Given the description of an element on the screen output the (x, y) to click on. 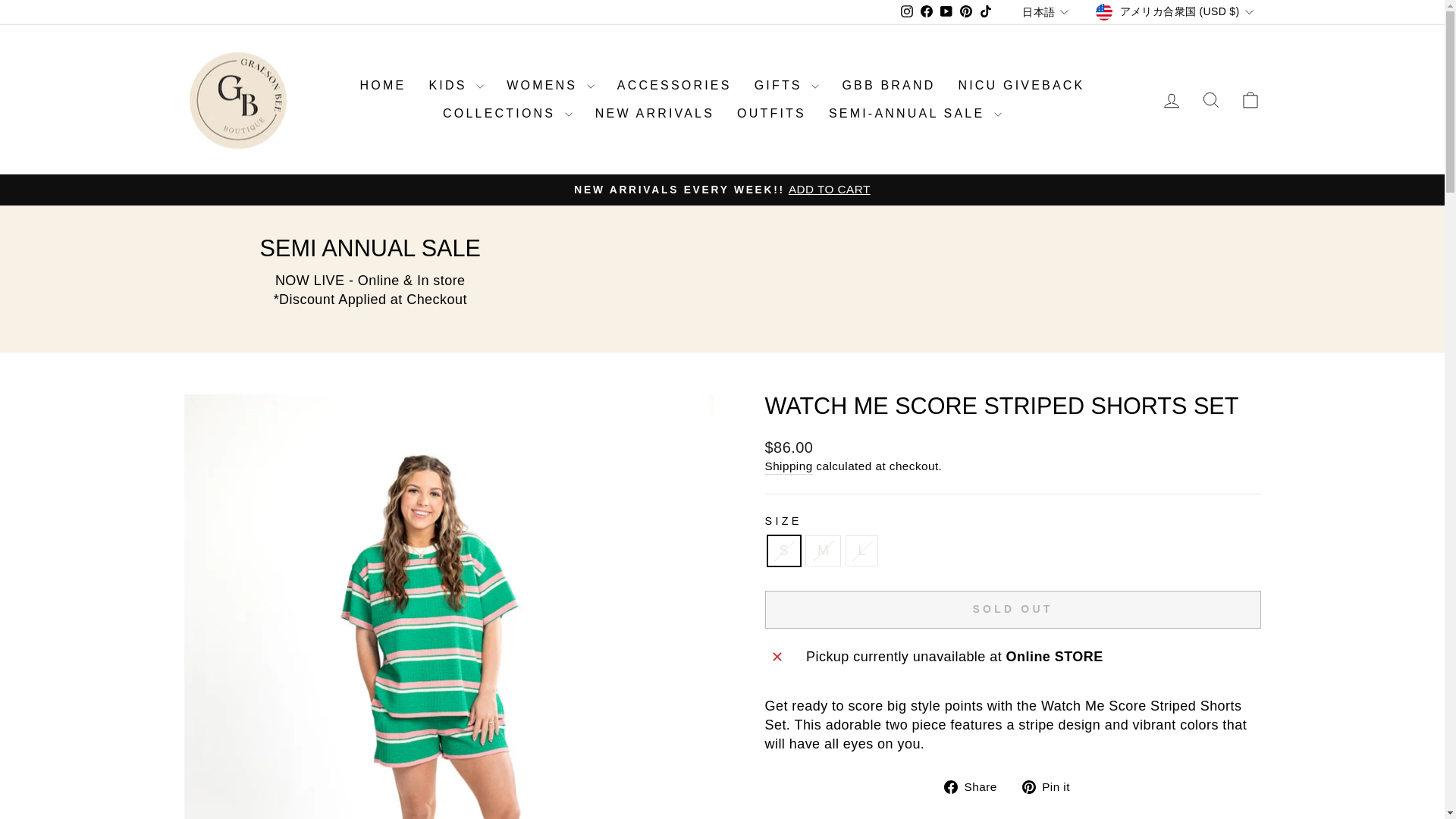
instagram (906, 10)
ICON-BAG-MINIMAL (1249, 99)
Share on Facebook (976, 785)
Pin on Pinterest (1051, 785)
ICON-SEARCH (1210, 99)
ACCOUNT (1170, 100)
